Given the description of an element on the screen output the (x, y) to click on. 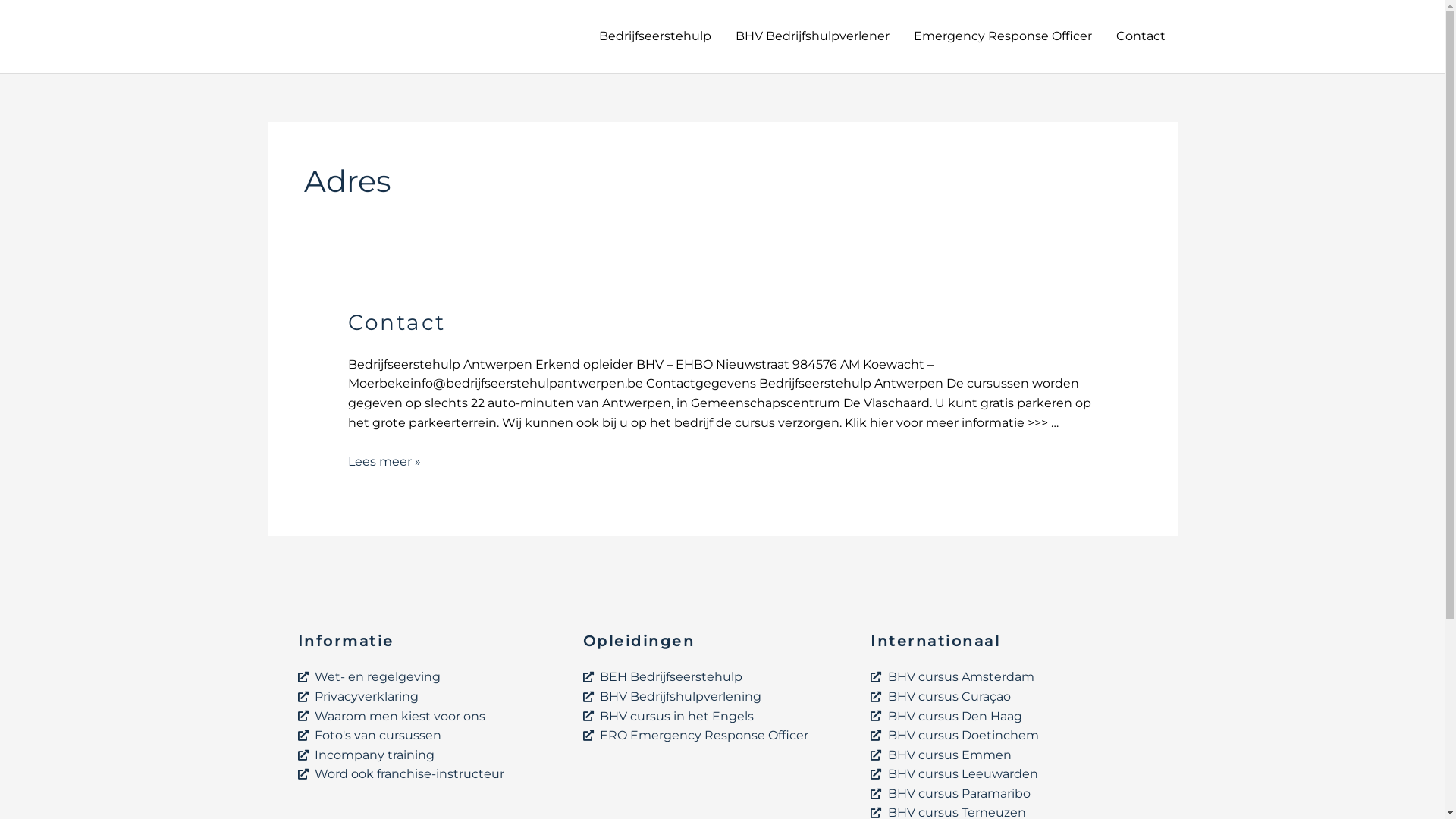
Waarom men kiest voor ons Element type: text (432, 716)
Foto's van cursussen Element type: text (432, 735)
Incompany training Element type: text (432, 755)
Privacyverklaring Element type: text (432, 696)
BHV cursus Den Haag Element type: text (1005, 716)
BEH Bedrijfseerstehulp Element type: text (719, 677)
BHV cursus in het Engels Element type: text (719, 716)
BHV cursus Doetinchem Element type: text (1005, 735)
BHV cursus Amsterdam Element type: text (1005, 677)
Contact Element type: text (1140, 36)
BHV cursus Leeuwarden Element type: text (1005, 774)
Emergency Response Officer Element type: text (1001, 36)
Word ook franchise-instructeur Element type: text (432, 774)
Wet- en regelgeving Element type: text (432, 677)
Contact Element type: text (396, 322)
BHV cursus Emmen Element type: text (1005, 755)
BHV Bedrijfshulpverlener Element type: text (812, 36)
BHV Bedrijfshulpverlening Element type: text (719, 696)
Bedrijfseerstehulp Element type: text (654, 36)
ERO Emergency Response Officer Element type: text (719, 735)
BHV cursus Paramaribo Element type: text (1005, 793)
